Given the description of an element on the screen output the (x, y) to click on. 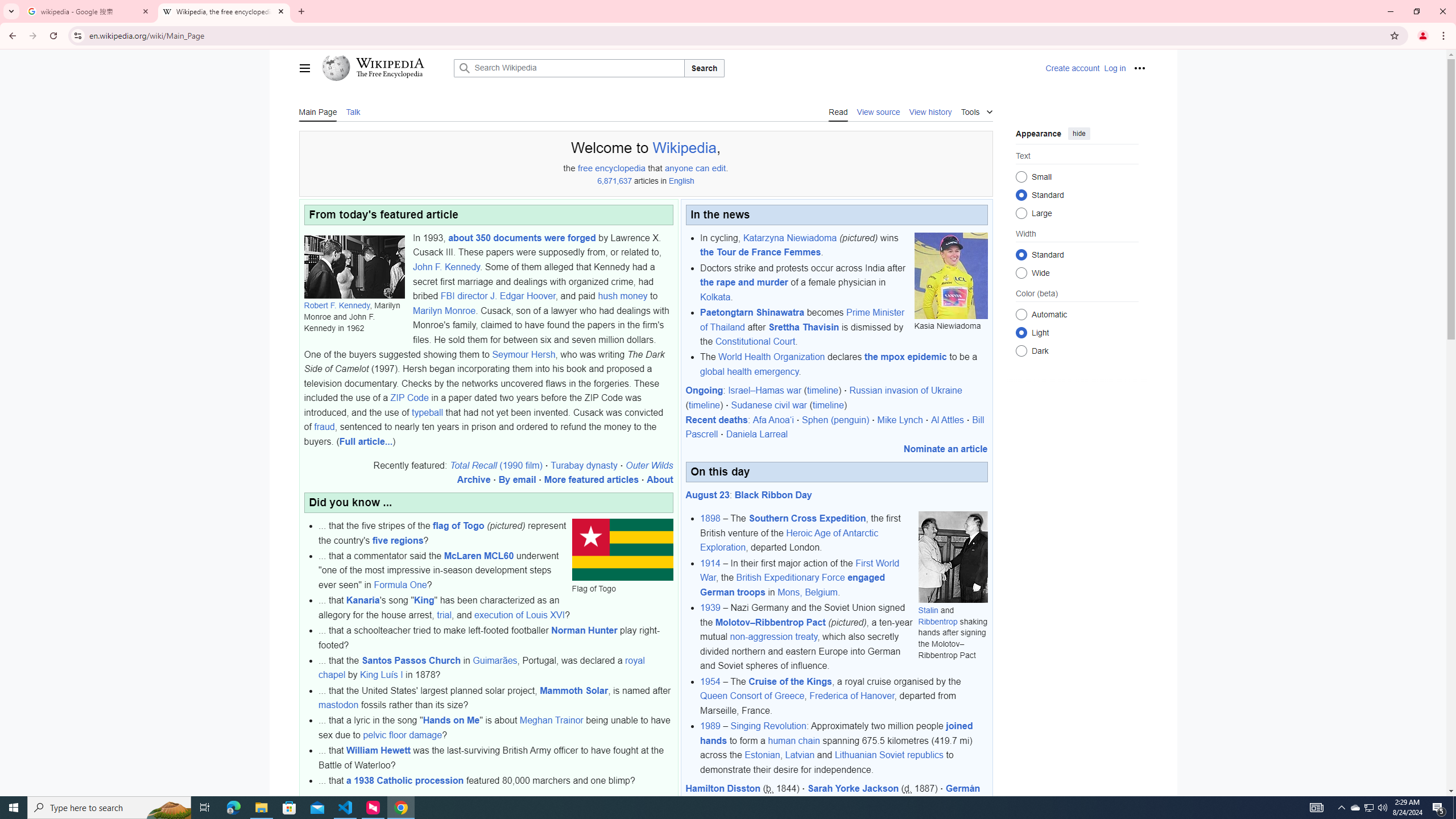
Constitutional Court (754, 341)
Light (1020, 332)
the Tour de France Femmes (760, 252)
McLaren MCL60 (478, 555)
royal chapel (481, 667)
Automatic (1020, 313)
AutomationID: ca-viewsource (877, 111)
five regions (397, 539)
More featured articles (591, 479)
Seymour Hersh (524, 353)
Frederica of Hanover (851, 696)
AutomationID: ca-view (837, 111)
hush money (622, 296)
